Given the description of an element on the screen output the (x, y) to click on. 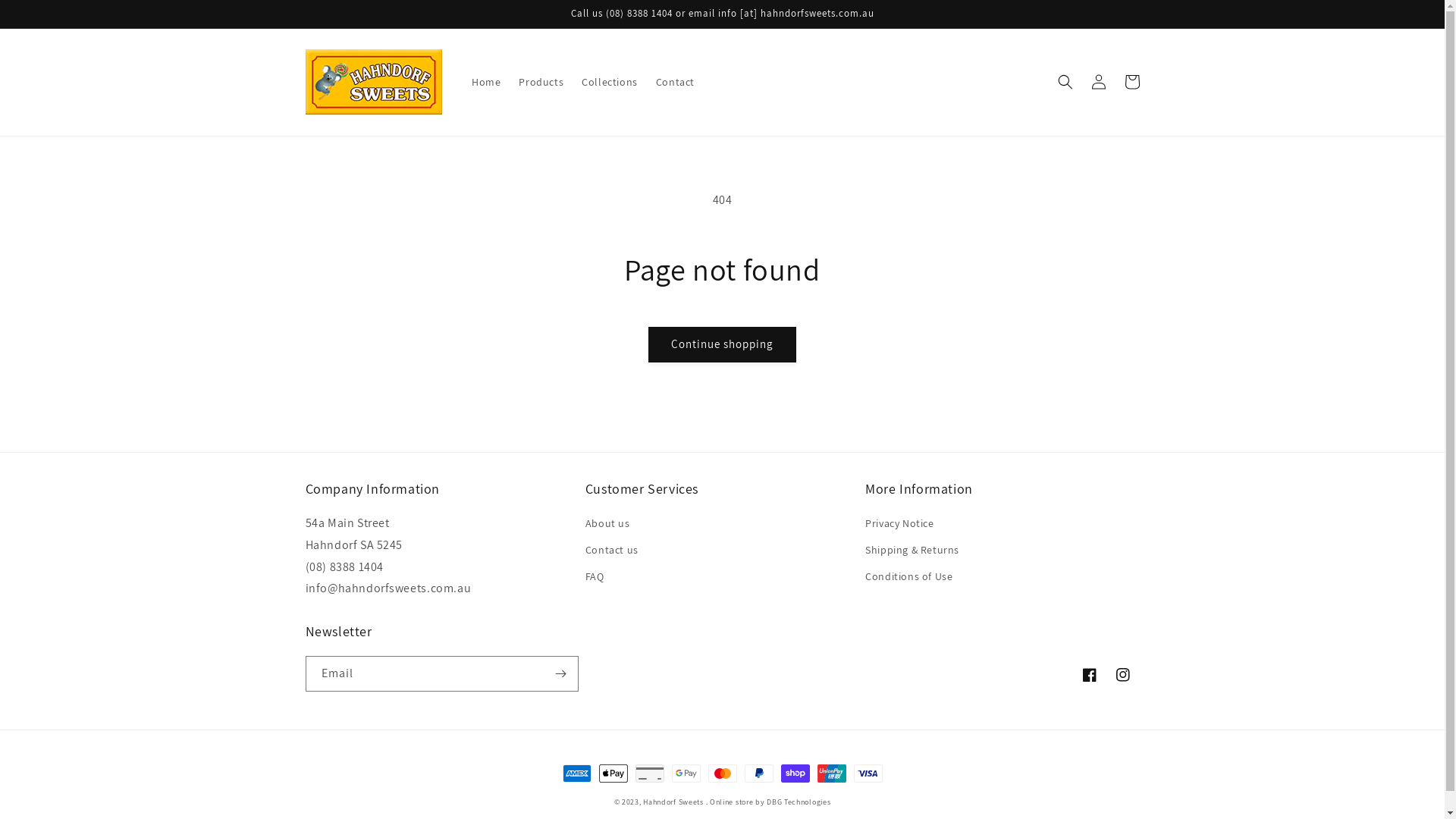
Products Element type: text (540, 81)
Hahndorf Sweets Element type: text (673, 801)
Contact Element type: text (674, 81)
DBG Technologies Element type: text (798, 801)
Cart Element type: text (1131, 81)
Continue shopping Element type: text (722, 344)
Collections Element type: text (609, 81)
Contact us Element type: text (611, 549)
Log in Element type: text (1097, 81)
Facebook Element type: text (1088, 674)
FAQ Element type: text (594, 576)
About us Element type: text (607, 525)
Privacy Notice Element type: text (899, 525)
Home Element type: text (485, 81)
Instagram Element type: text (1122, 674)
Shipping & Returns Element type: text (912, 549)
Conditions of Use Element type: text (908, 576)
